Given the description of an element on the screen output the (x, y) to click on. 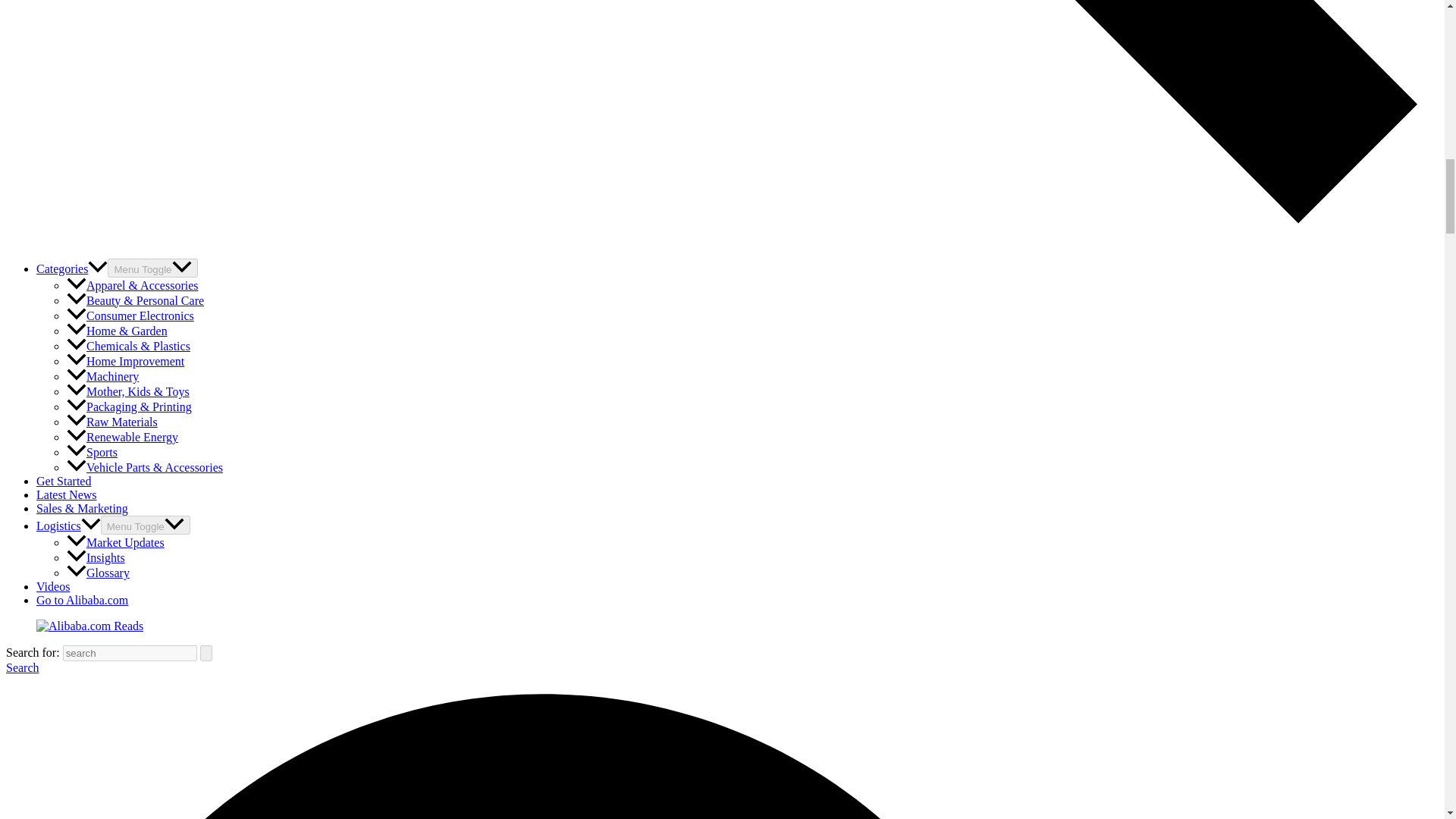
Consumer Electronics (129, 315)
Home Improvement (125, 360)
Menu Toggle (151, 267)
Machinery (102, 376)
Categories (71, 268)
